Given the description of an element on the screen output the (x, y) to click on. 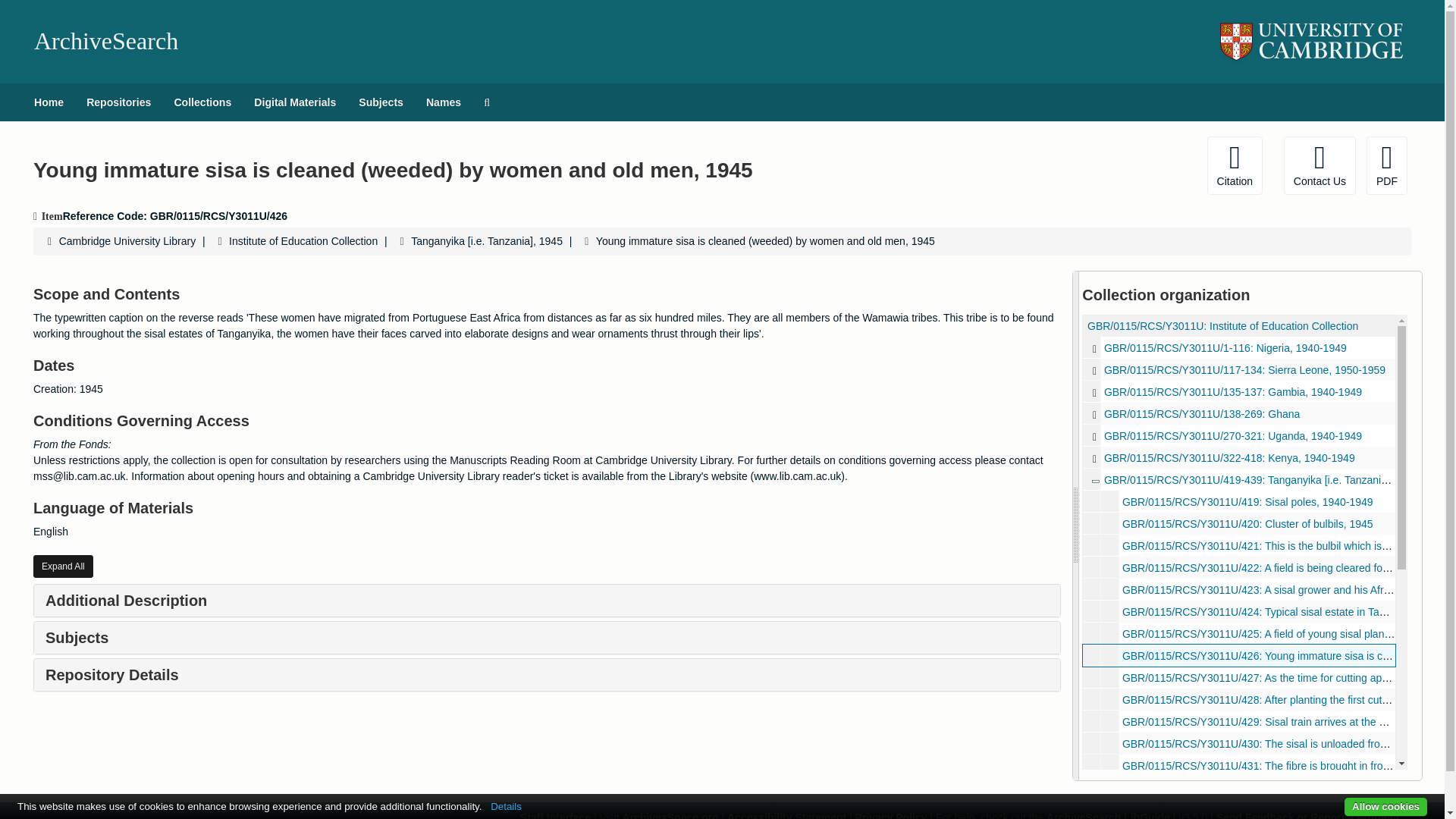
Repository Details (112, 674)
Additional Description (125, 600)
Digital Materials (295, 102)
Expand All (63, 566)
This is the bulbil which is planted (1238, 545)
Names (442, 102)
Kenya (1238, 457)
Gambia (1238, 391)
Contact Us (1319, 165)
Sierra Leone (1238, 369)
